Given the description of an element on the screen output the (x, y) to click on. 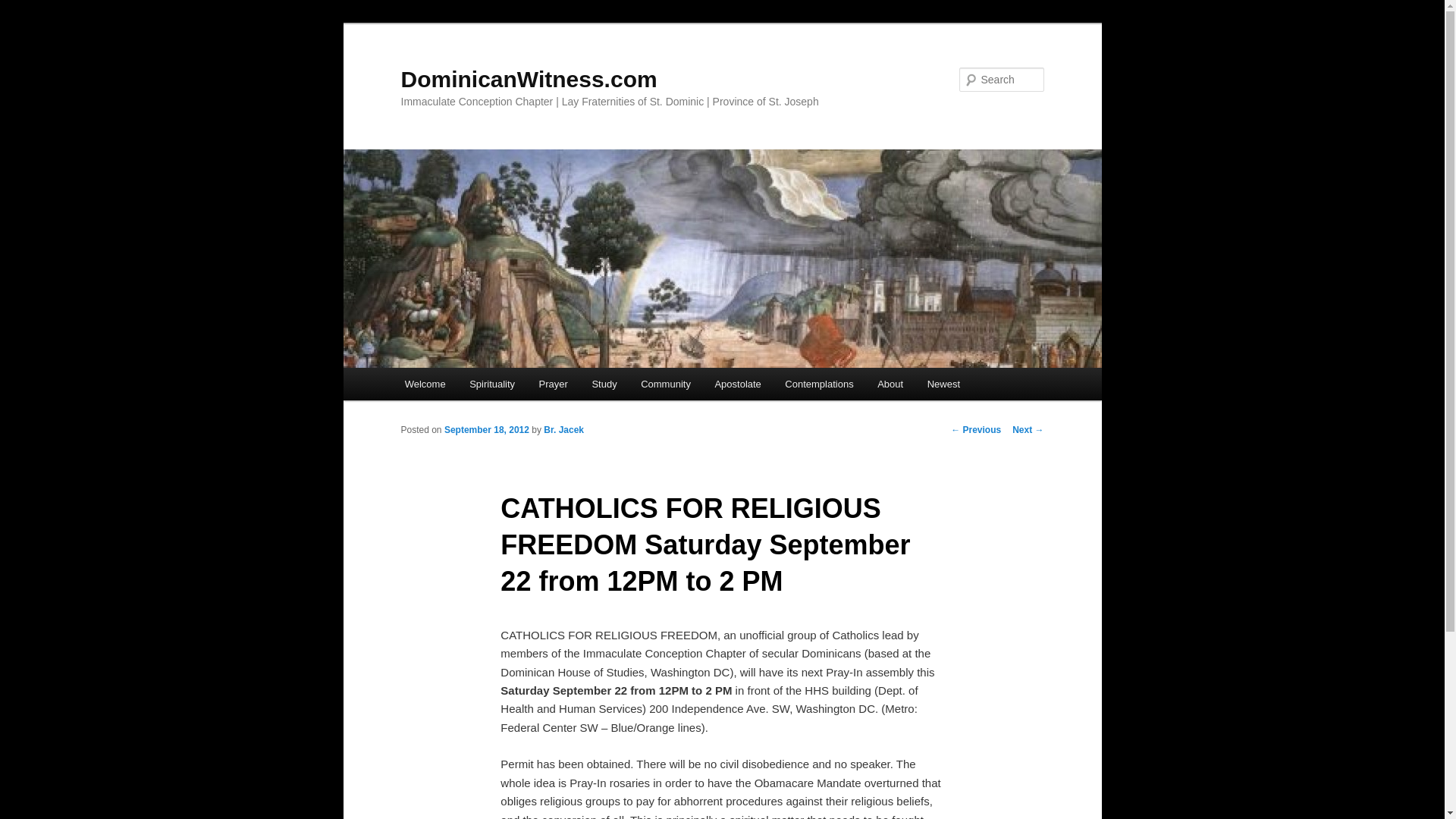
11:35 am (486, 429)
Community (664, 383)
Welcome (425, 383)
Prayer (553, 383)
View all posts by Br. Jacek (563, 429)
Study (603, 383)
DominicanWitness.com (528, 78)
Spirituality (491, 383)
Search (19, 7)
